Given the description of an element on the screen output the (x, y) to click on. 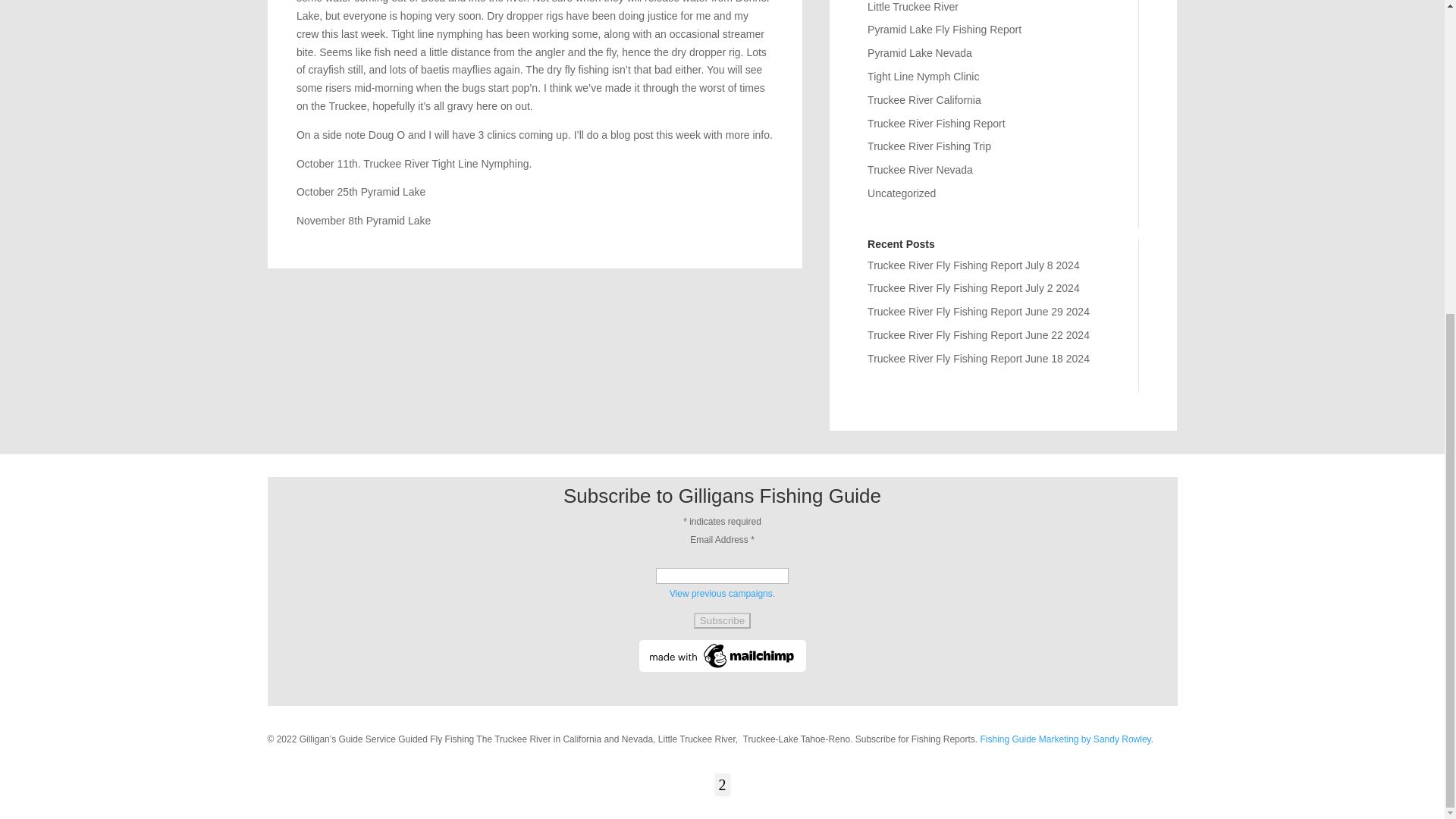
Truckee River Fishing Trip (929, 146)
Pyramid Lake Nevada (919, 52)
Pyramid Lake Fly Fishing Report (944, 29)
Uncategorized (901, 193)
Little Truckee River (912, 6)
Subscribe (722, 620)
View previous campaigns (721, 593)
Truckee River Fishing Report (936, 123)
Truckee River California (924, 100)
Mailchimp - email marketing made easy and fun (722, 668)
Truckee River Nevada (919, 169)
Tight Line Nymph Clinic (922, 76)
